Given the description of an element on the screen output the (x, y) to click on. 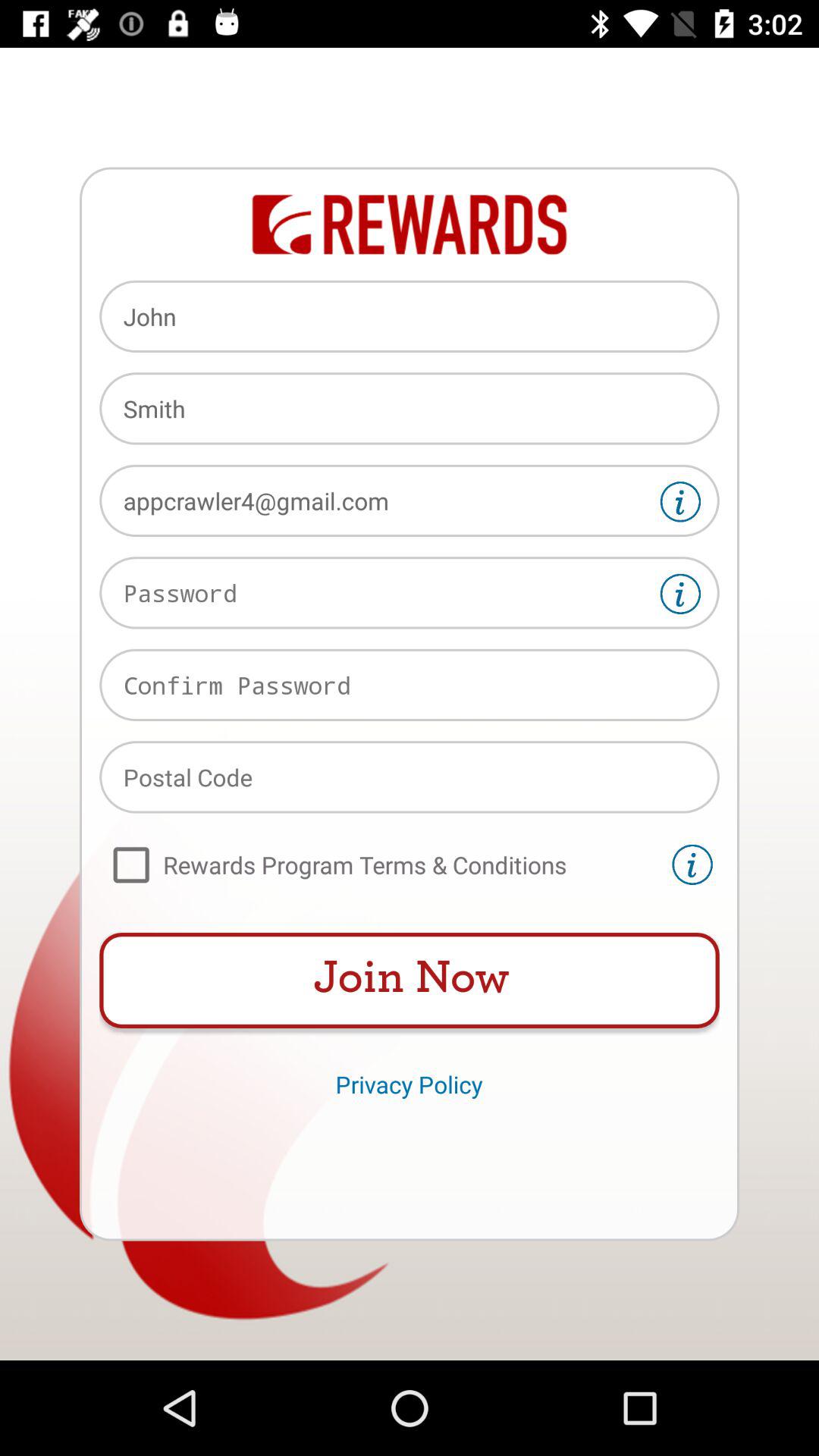
open keyboard to enter password (409, 592)
